Given the description of an element on the screen output the (x, y) to click on. 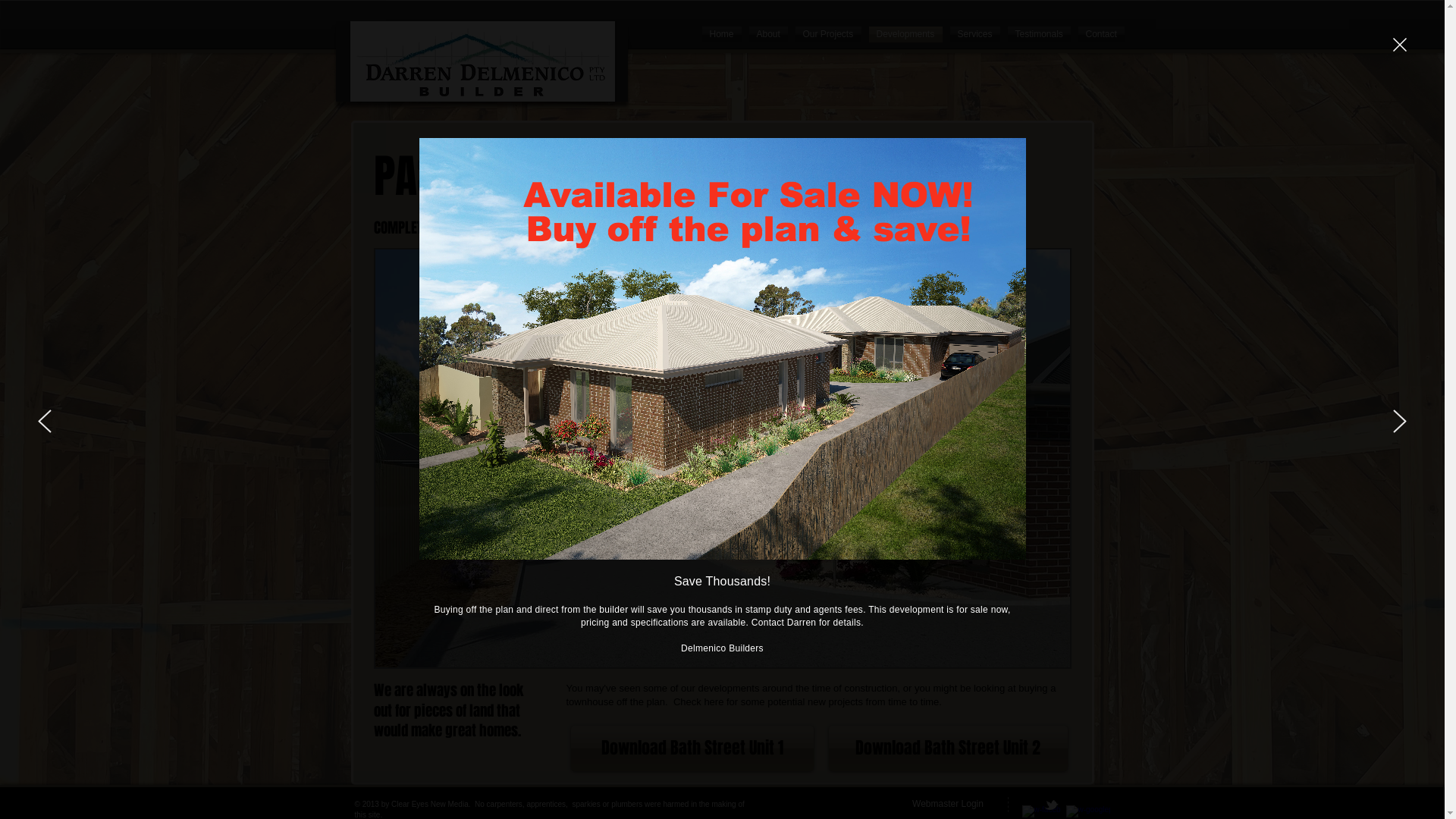
Download Bath Street Unit 1 Element type: text (691, 748)
Webmaster Login Element type: text (947, 803)
Our Projects Element type: text (828, 33)
Contact Element type: text (1098, 33)
Download Bath Street Unit 2 Element type: text (947, 748)
Home Element type: text (720, 33)
Services Element type: text (975, 33)
About Element type: text (767, 33)
Testimonals Element type: text (1039, 33)
Developments Element type: text (904, 33)
